Given the description of an element on the screen output the (x, y) to click on. 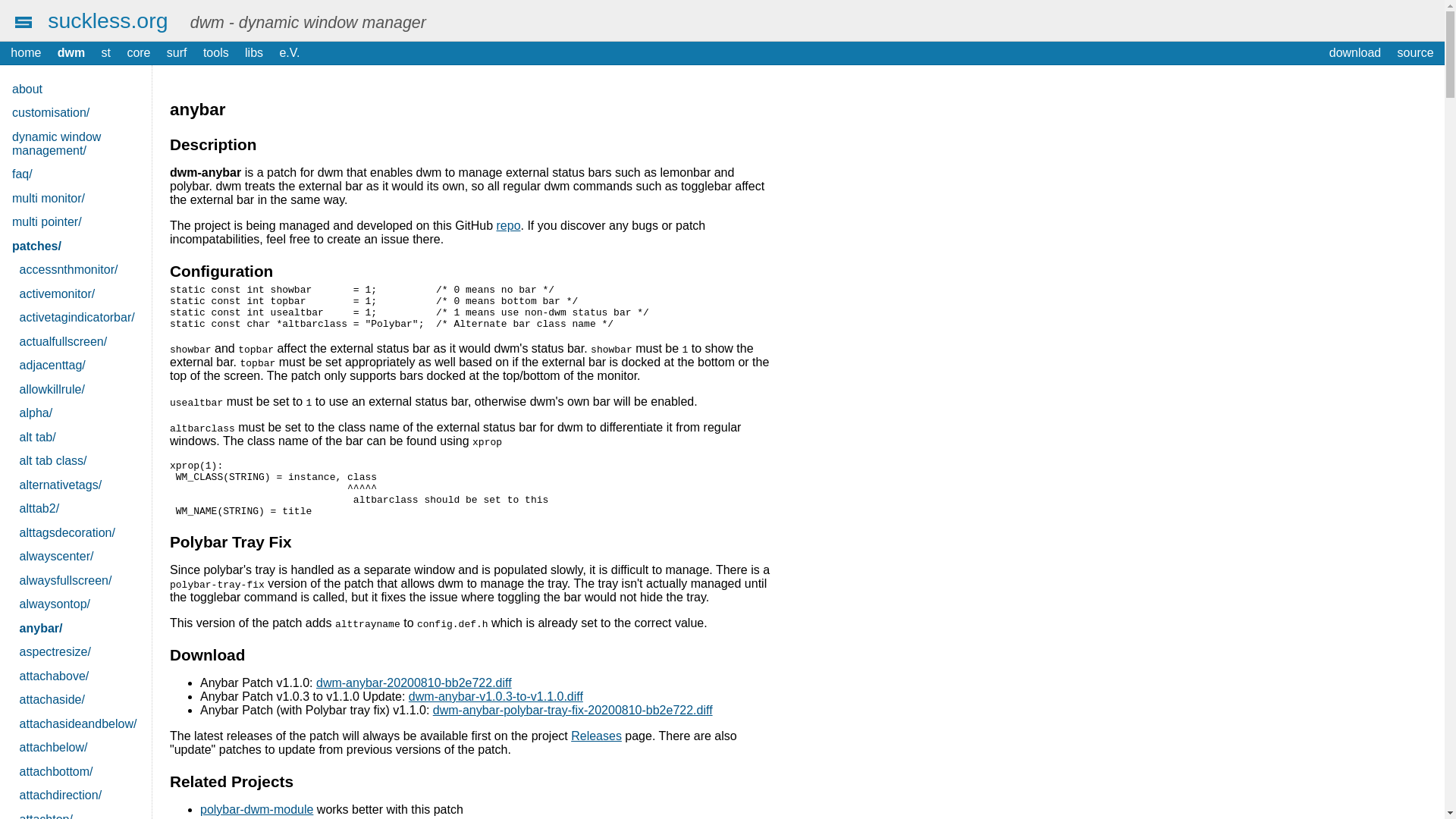
libs (253, 52)
home (26, 52)
about (75, 88)
dwm (70, 52)
suckless.org (107, 20)
download (1354, 52)
source (1414, 52)
st (105, 52)
core (138, 52)
tools (215, 52)
surf (176, 52)
e.V. (289, 52)
